Given the description of an element on the screen output the (x, y) to click on. 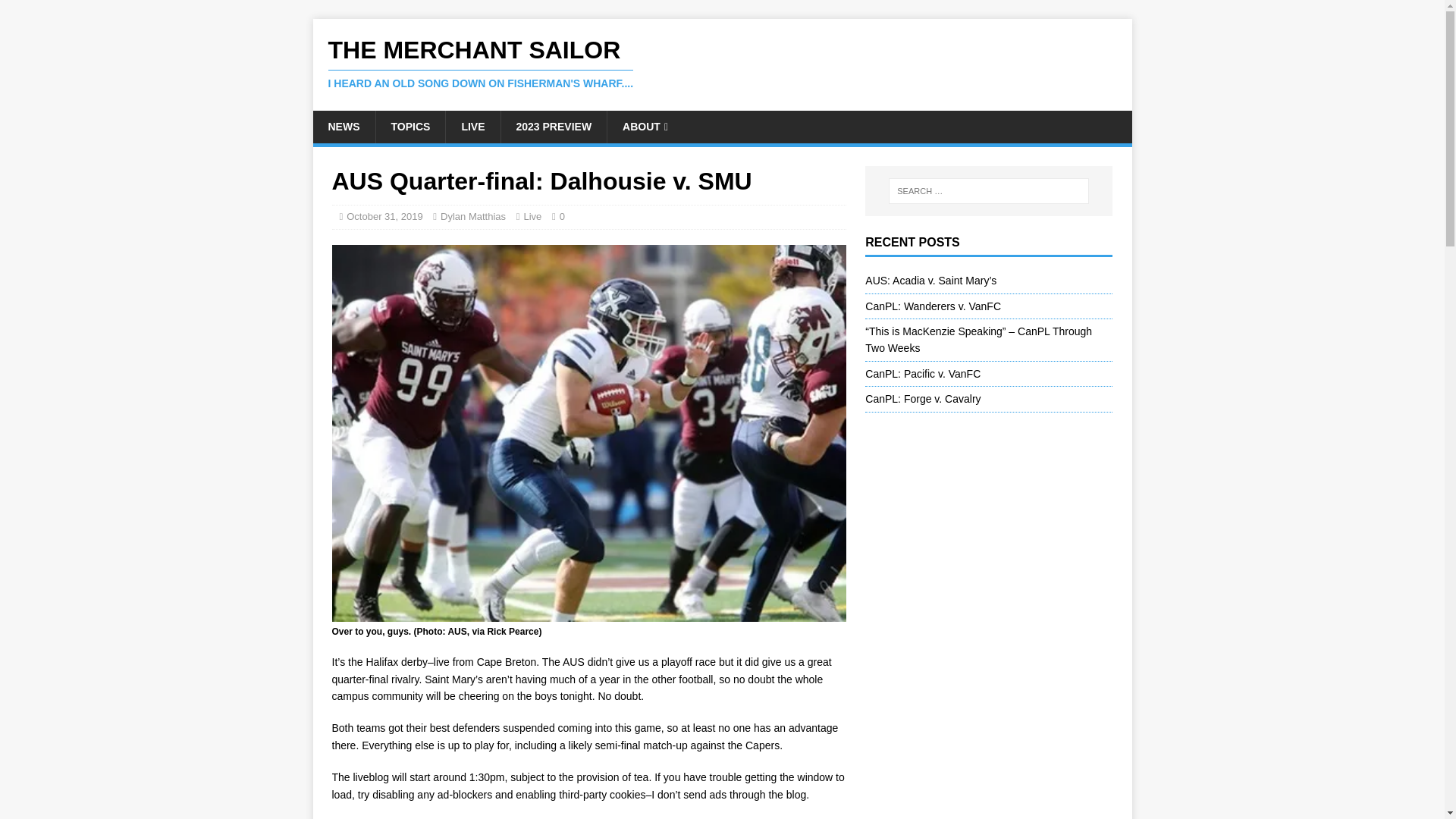
TOPICS (409, 126)
CanPL: Wanderers v. VanFC (932, 306)
2023 PREVIEW (553, 126)
ABOUT (644, 126)
Live (531, 215)
Search (56, 11)
CanPL: Pacific v. VanFC (921, 373)
October 31, 2019 (384, 215)
The Merchant Sailor (721, 63)
LIVE (472, 126)
NEWS (343, 126)
CanPL: Forge v. Cavalry (921, 398)
Dylan Matthias (473, 215)
